Given the description of an element on the screen output the (x, y) to click on. 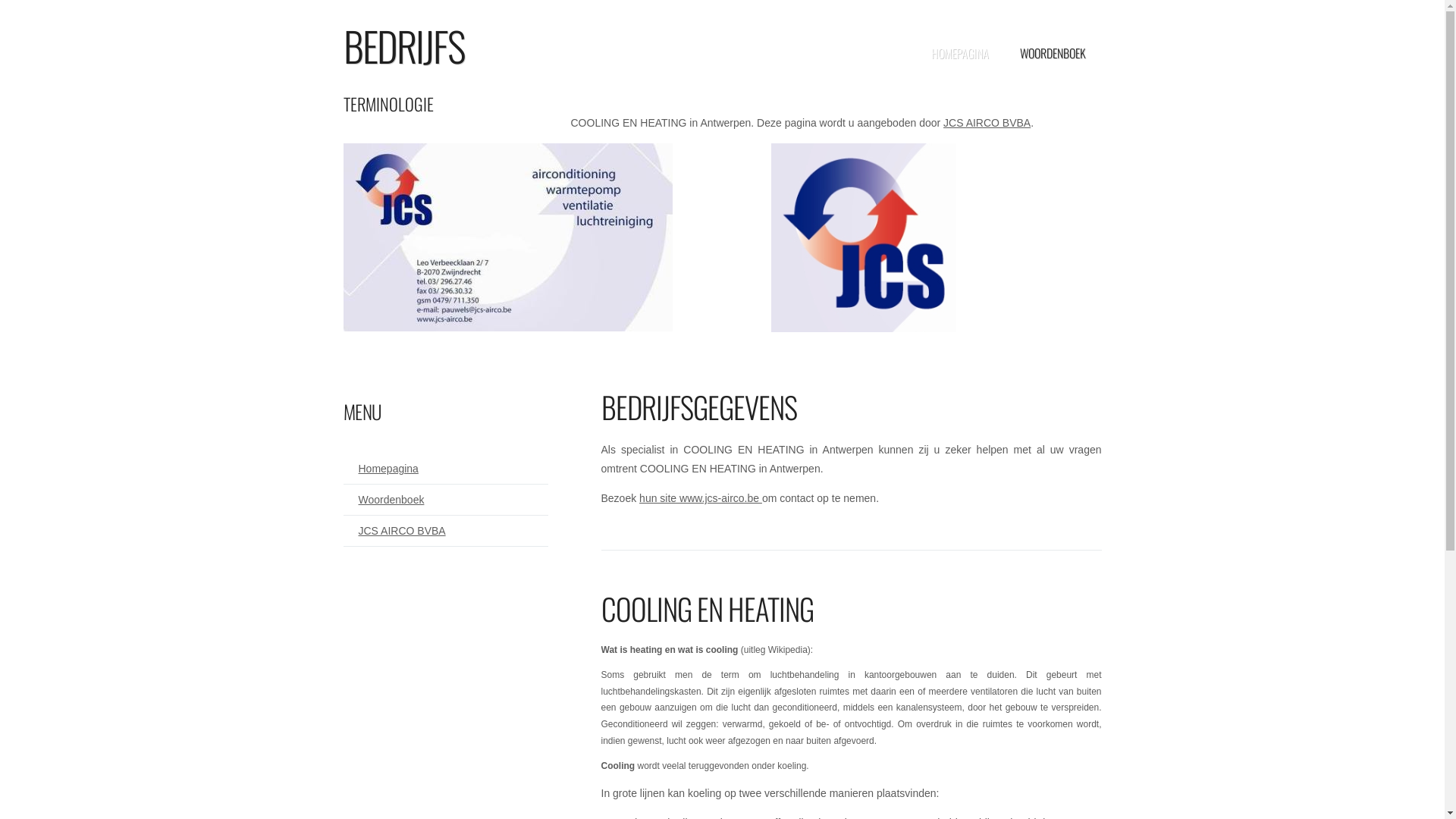
JCS AIRCO BVBA Element type: text (986, 122)
hun site www.jcs-airco.be Element type: text (700, 498)
Woordenboek Element type: text (382, 499)
COOLING EN HEATING Element type: text (706, 608)
BEDRIJFSGEGEVENS Element type: text (698, 406)
JCS AIRCO BVBA Element type: text (393, 530)
WOORDENBOEK Element type: text (1052, 53)
Homepagina Element type: text (379, 468)
HOMEPAGINA Element type: text (960, 53)
BEDRIJFS Element type: text (402, 45)
